Given the description of an element on the screen output the (x, y) to click on. 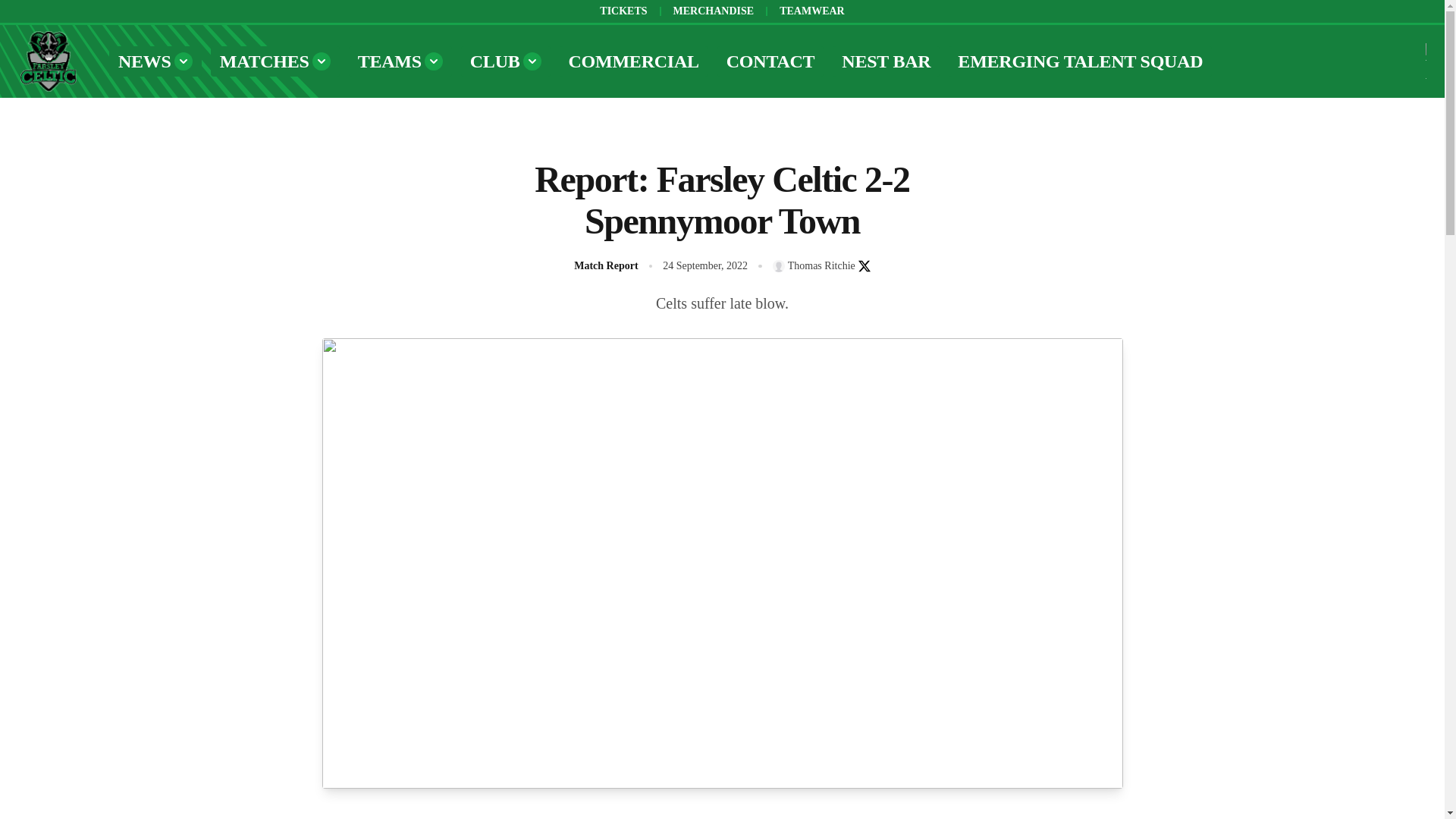
NEWS (155, 60)
TEAMWEAR (811, 10)
MERCHANDISE (713, 10)
TICKETS (622, 10)
